Given the description of an element on the screen output the (x, y) to click on. 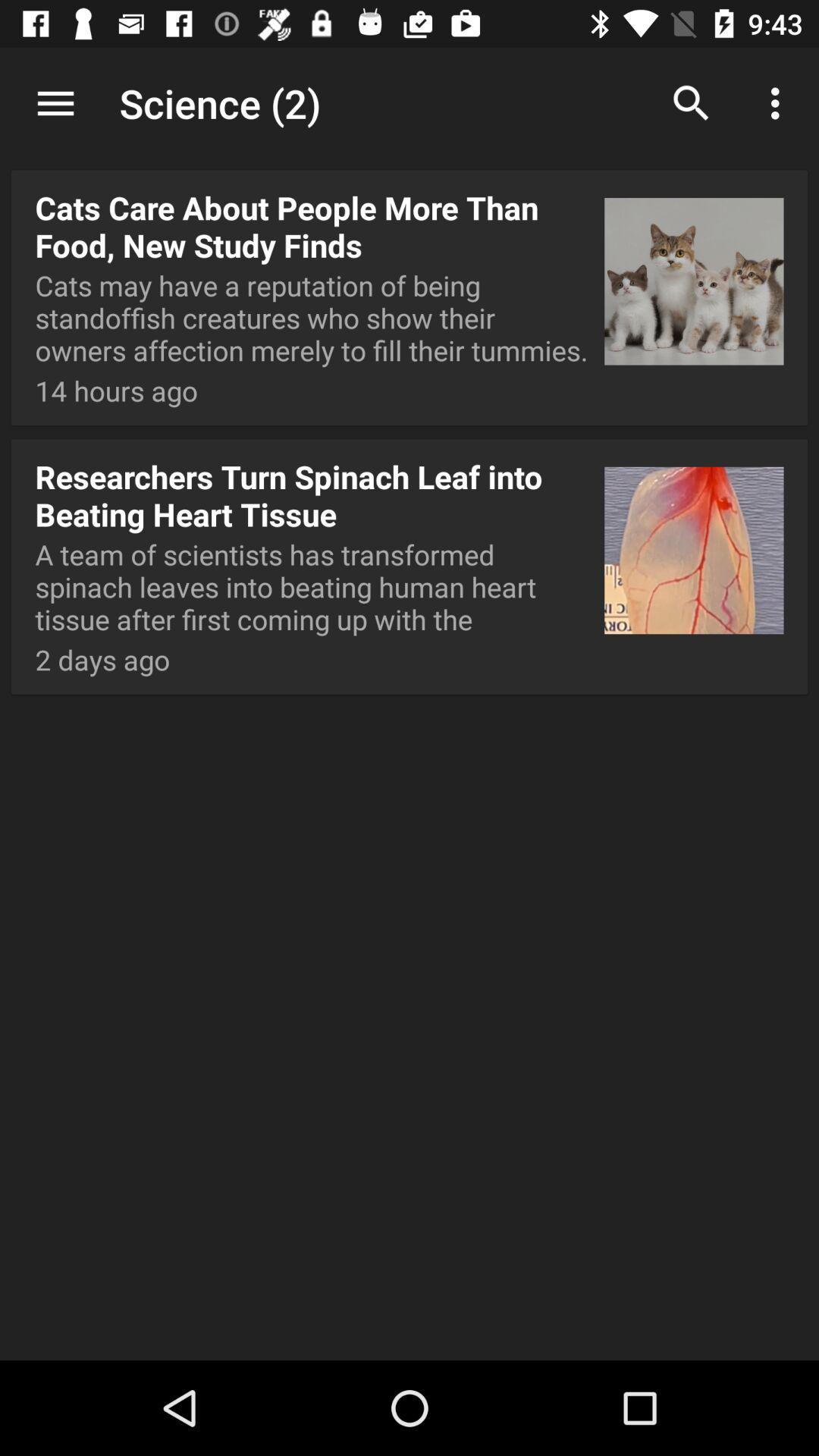
tap icon next to the science (2) (691, 103)
